Given the description of an element on the screen output the (x, y) to click on. 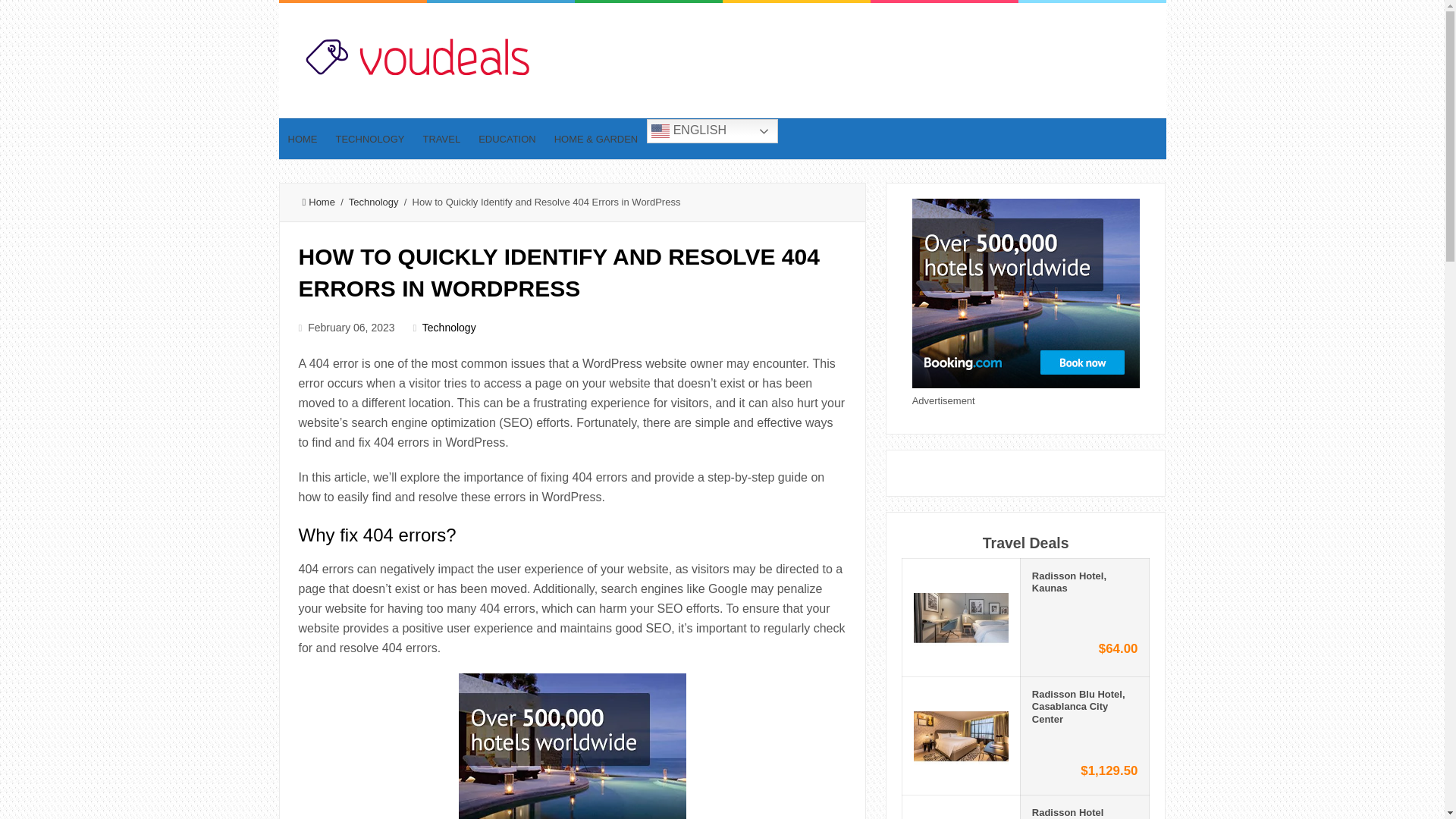
HOME (302, 138)
TECHNOLOGY (369, 138)
TRAVEL (441, 138)
EDUCATION (506, 138)
